Given the description of an element on the screen output the (x, y) to click on. 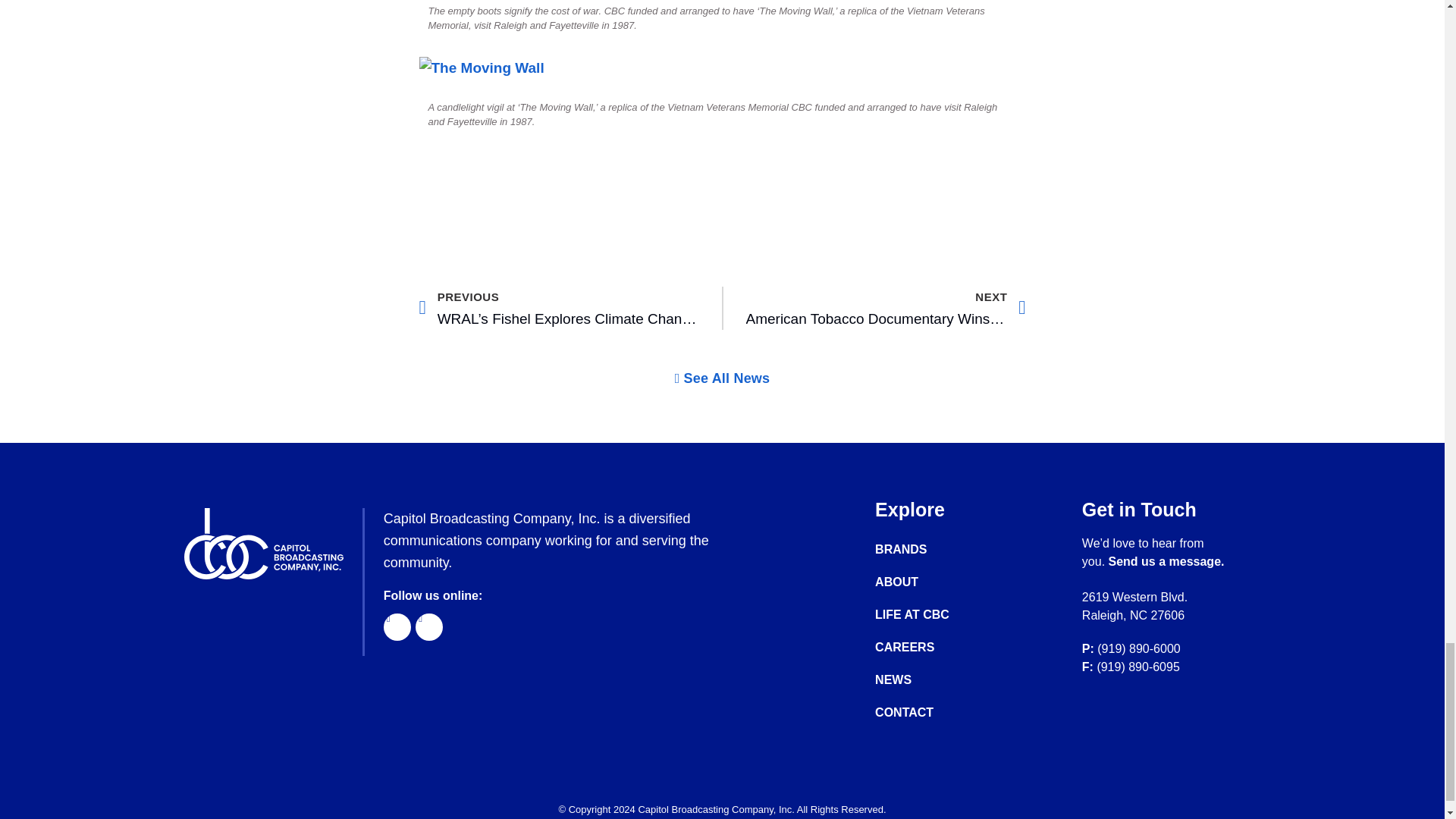
LIFE AT CBC (926, 614)
NEWS (926, 679)
BRANDS (926, 549)
CONTACT (926, 712)
ABOUT (926, 581)
CAREERS (926, 647)
See All News (722, 377)
